Given the description of an element on the screen output the (x, y) to click on. 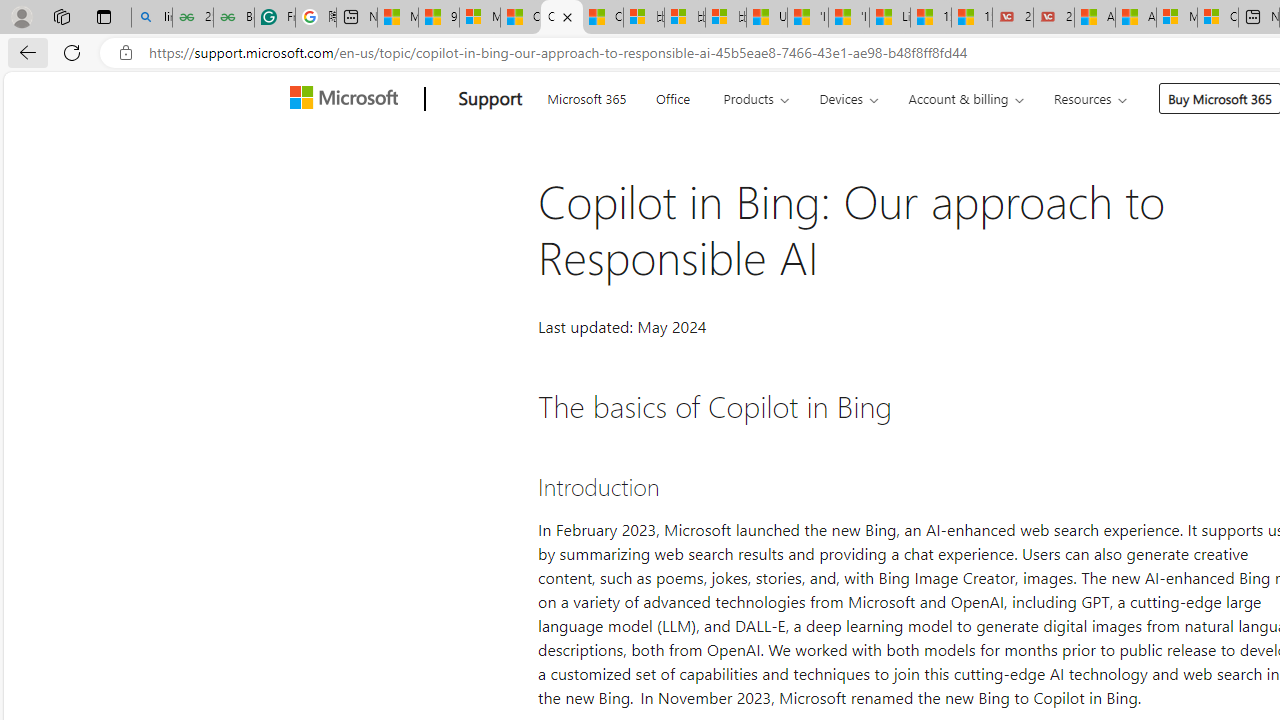
15 Ways Modern Life Contradicts the Teachings of Jesus (971, 17)
Free AI Writing Assistance for Students | Grammarly (274, 17)
Office (672, 96)
